Given the description of an element on the screen output the (x, y) to click on. 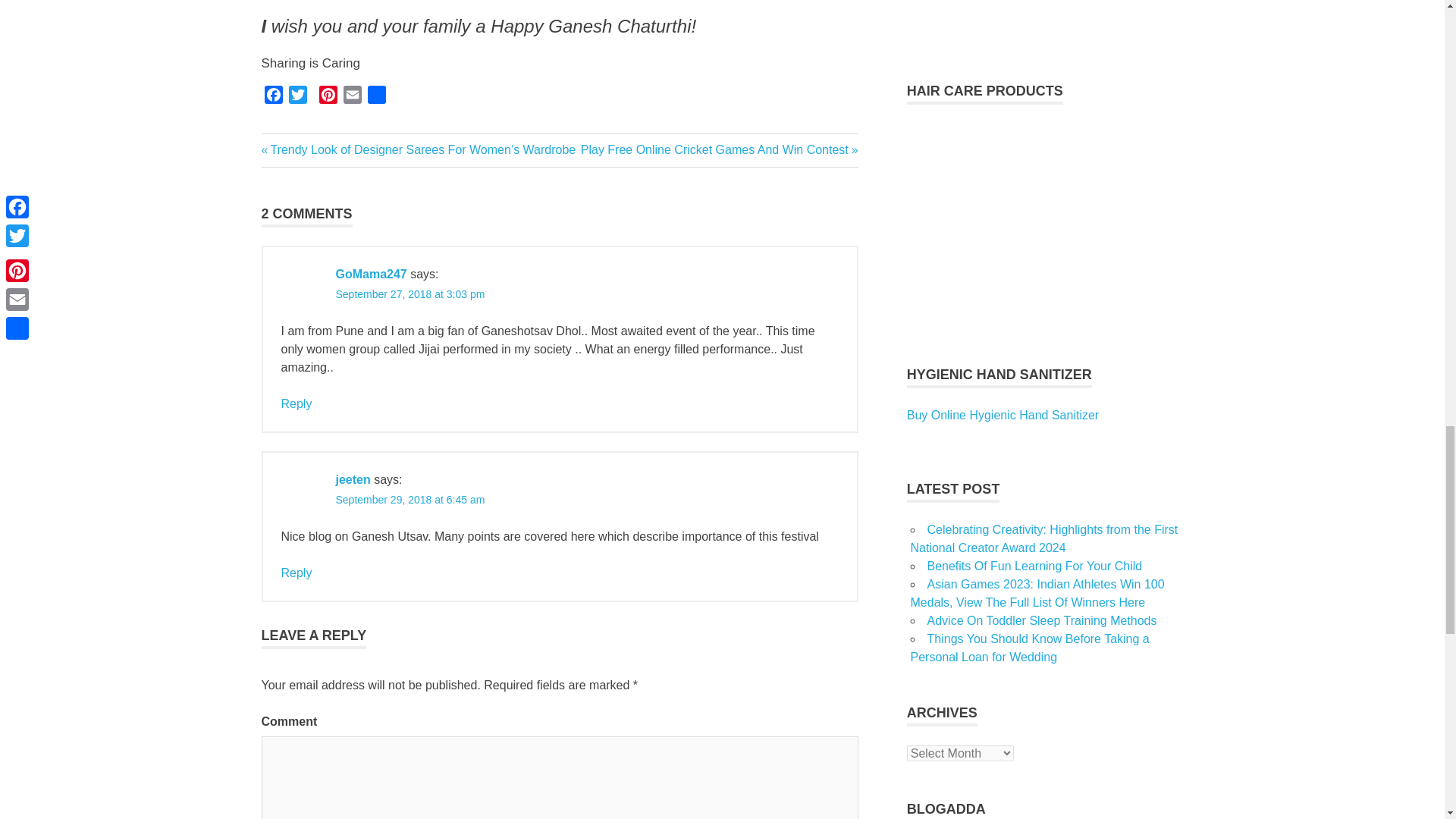
Facebook (272, 96)
Twitter (296, 96)
Facebook (272, 96)
Twitter (296, 96)
Pinterest (327, 96)
Email (351, 96)
